Given the description of an element on the screen output the (x, y) to click on. 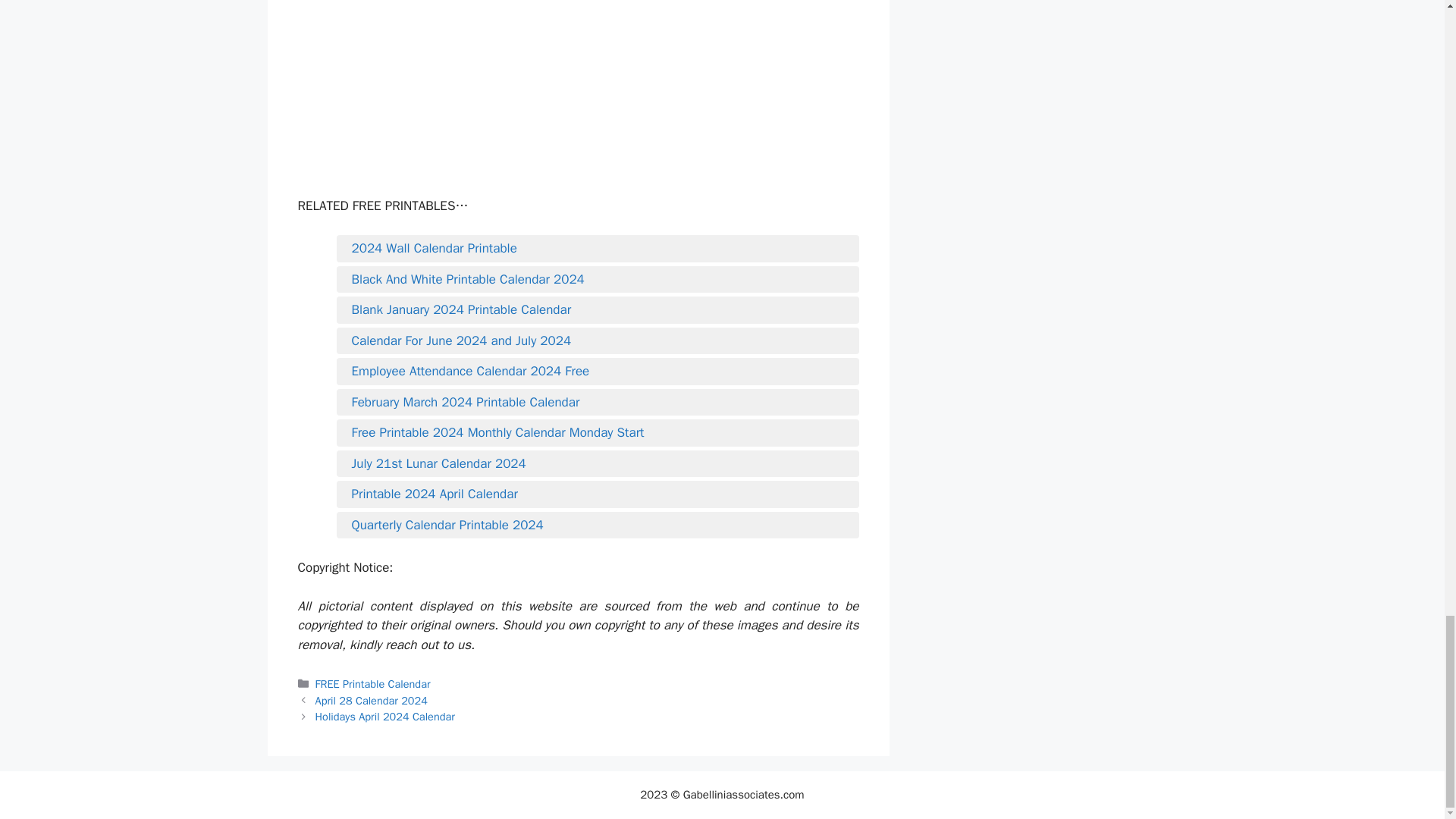
April 28 Calendar 2024 (371, 700)
February March 2024 Printable Calendar (597, 402)
Quarterly Calendar Printable 2024 (597, 525)
July 21st Lunar Calendar 2024 (597, 463)
Employee Attendance Calendar 2024 Free (597, 371)
2024 Wall Calendar Printable (597, 248)
Calendar For June 2024 and July 2024 (597, 341)
Holidays April 2024 Calendar (384, 716)
Free Printable 2024 Monthly Calendar Monday Start (597, 432)
Blank January 2024 Printable Calendar (597, 309)
